Given the description of an element on the screen output the (x, y) to click on. 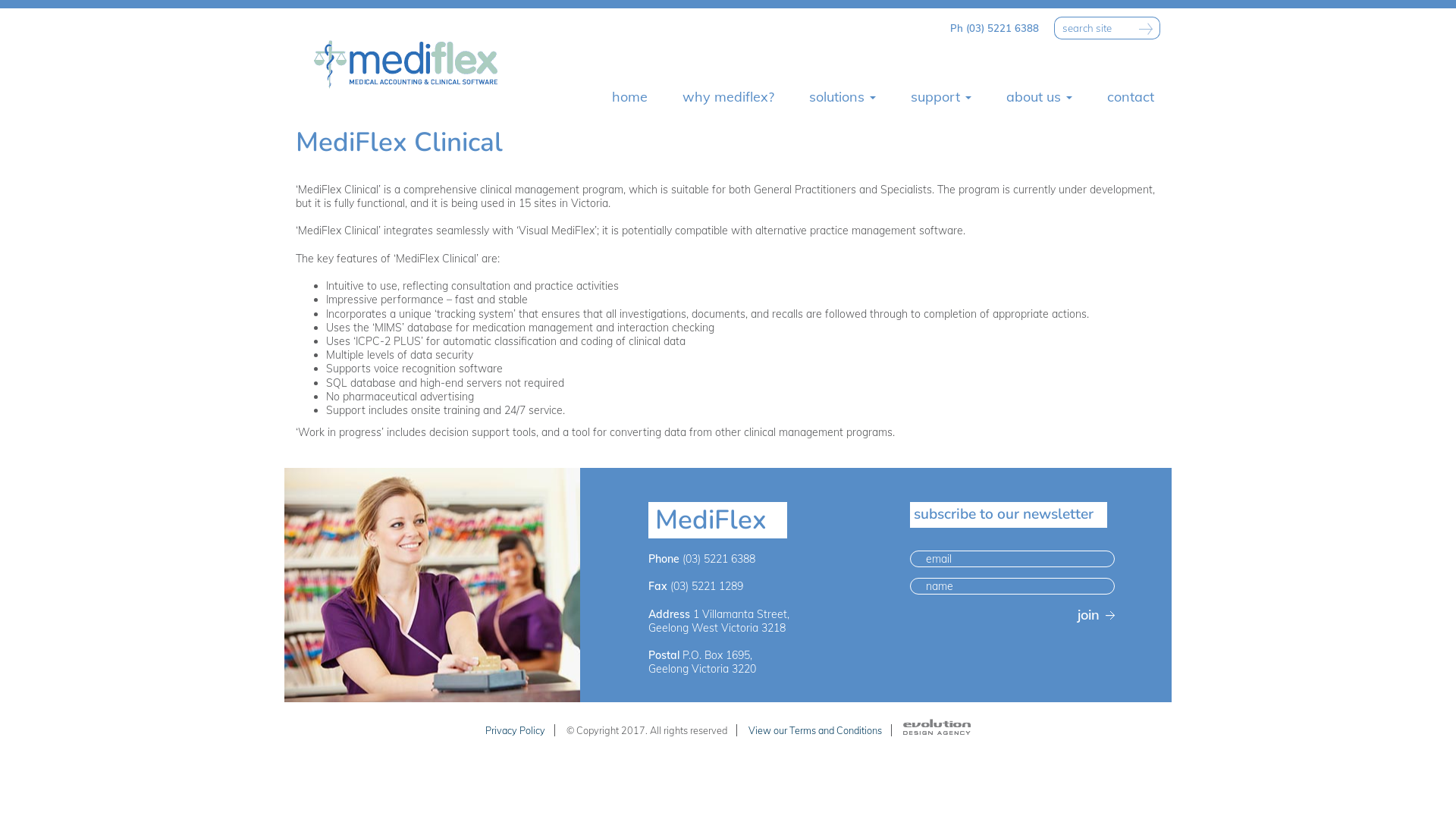
about us Element type: text (1038, 96)
Privacy Policy Element type: text (515, 730)
home Element type: text (629, 96)
(03) 5221 6388 Element type: text (718, 558)
Ph (03) 5221 6388 Element type: text (994, 27)
View our Terms and Conditions Element type: text (814, 730)
solutions Element type: text (842, 96)
why mediflex? Element type: text (728, 96)
contact Element type: text (1130, 96)
join Element type: text (1088, 614)
support Element type: text (940, 96)
Search Element type: text (1144, 27)
